Given the description of an element on the screen output the (x, y) to click on. 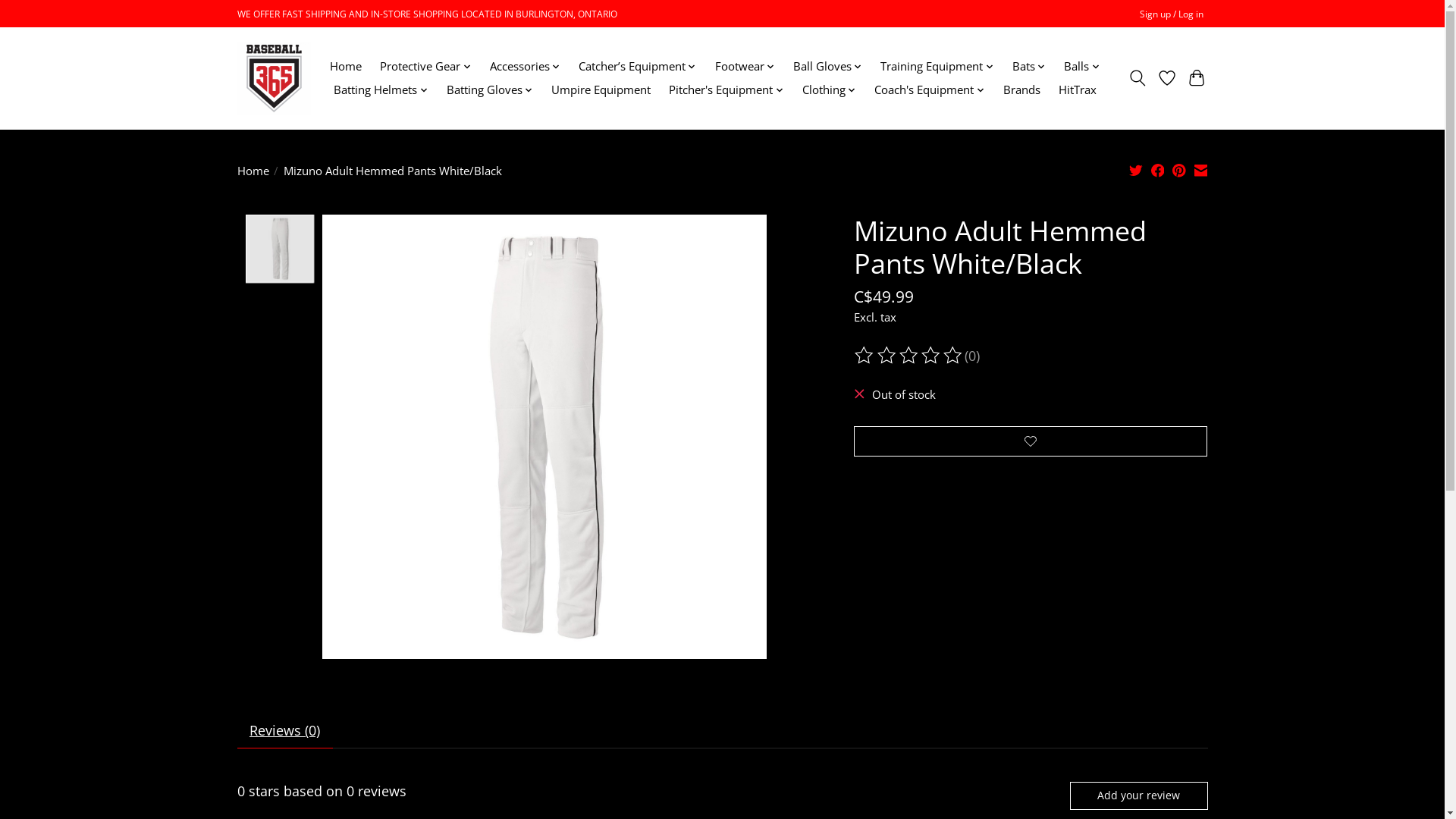
Add your review Element type: text (1138, 795)
Share on Facebook Element type: text (1157, 171)
Brands Element type: text (1020, 89)
Share on Twitter Element type: text (1135, 171)
Baseball 365 Ltd. Element type: hover (273, 77)
Footwear Element type: text (744, 66)
Balls Element type: text (1081, 66)
Home Element type: text (345, 66)
Accessories Element type: text (524, 66)
Coach's Equipment Element type: text (929, 89)
Home Element type: text (252, 169)
HitTrax Element type: text (1076, 89)
Share on Pinterest Element type: text (1179, 171)
Pitcher's Equipment Element type: text (726, 89)
Bats Element type: text (1029, 66)
Training Equipment Element type: text (937, 66)
Protective Gear Element type: text (425, 66)
Clothing Element type: text (828, 89)
Reviews (0) Element type: text (284, 730)
Batting Helmets Element type: text (380, 89)
Batting Gloves Element type: text (489, 89)
Ball Gloves Element type: text (827, 66)
Share by Email Element type: text (1201, 171)
Umpire Equipment Element type: text (600, 89)
Sign up / Log in Element type: text (1171, 13)
